Given the description of an element on the screen output the (x, y) to click on. 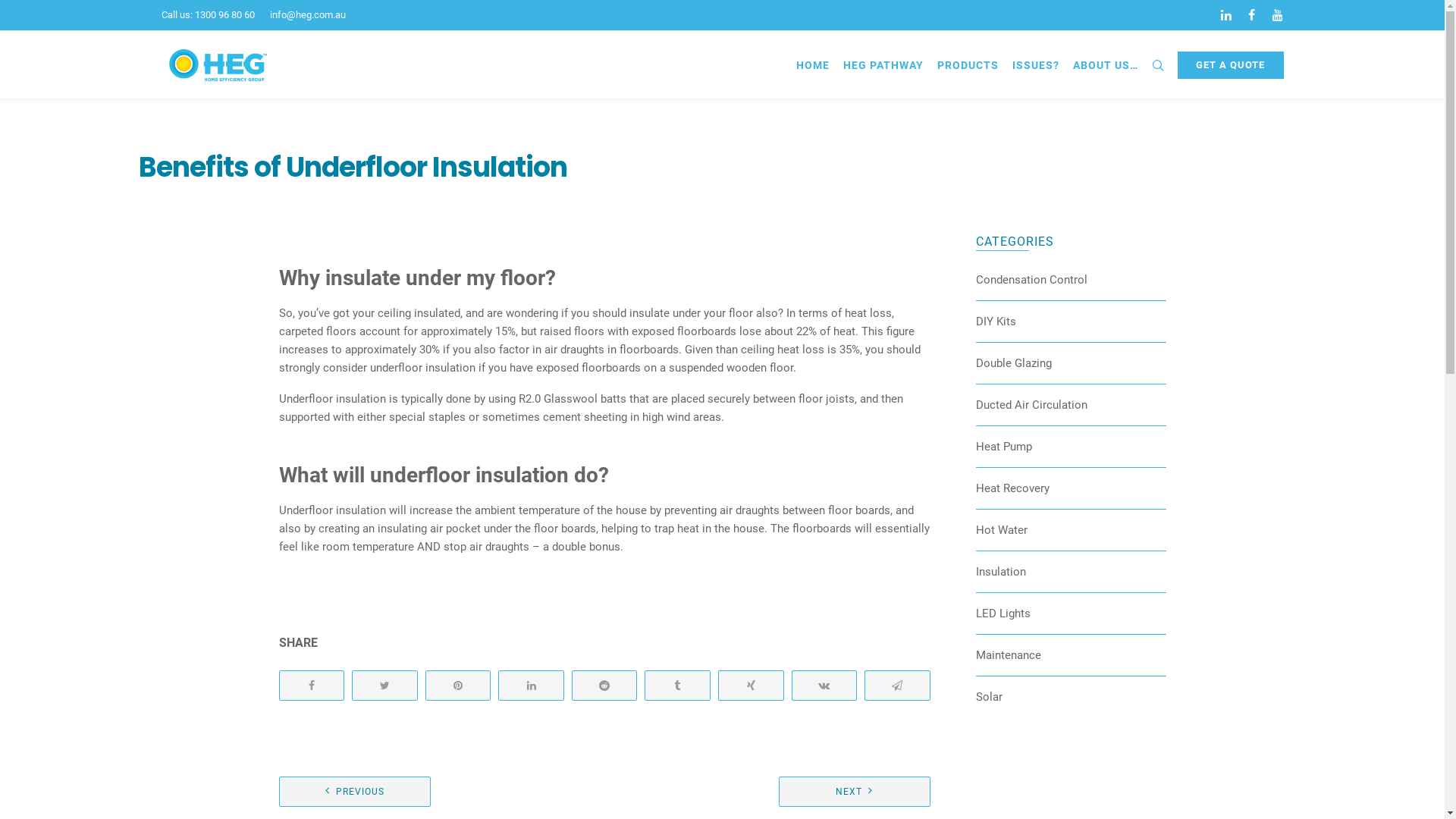
Heat Pump Element type: text (1003, 446)
Solar Element type: text (988, 696)
PRODUCTS Element type: text (966, 65)
PREVIOUS Element type: text (354, 791)
Heat Recovery Element type: text (1012, 488)
Ducted Air Circulation Element type: text (1031, 404)
Benefits of Underfloor Insulation Element type: text (352, 166)
ISSUES? Element type: text (1035, 65)
Maintenance Element type: text (1008, 655)
Condensation Control Element type: text (1031, 279)
Insulation Element type: text (1000, 571)
GET A QUOTE Element type: text (1229, 65)
Call us: 1300 96 80 60 Element type: text (207, 15)
LED Lights Element type: text (1002, 613)
HEG : Home Efficiency Group Element type: hover (217, 65)
HOME Element type: text (811, 65)
Double Glazing Element type: text (1013, 363)
info@heg.com.au Element type: text (307, 15)
Hot Water Element type: text (1001, 529)
NEXT Element type: text (854, 791)
DIY Kits Element type: text (995, 321)
HEG PATHWAY Element type: text (882, 65)
